Given the description of an element on the screen output the (x, y) to click on. 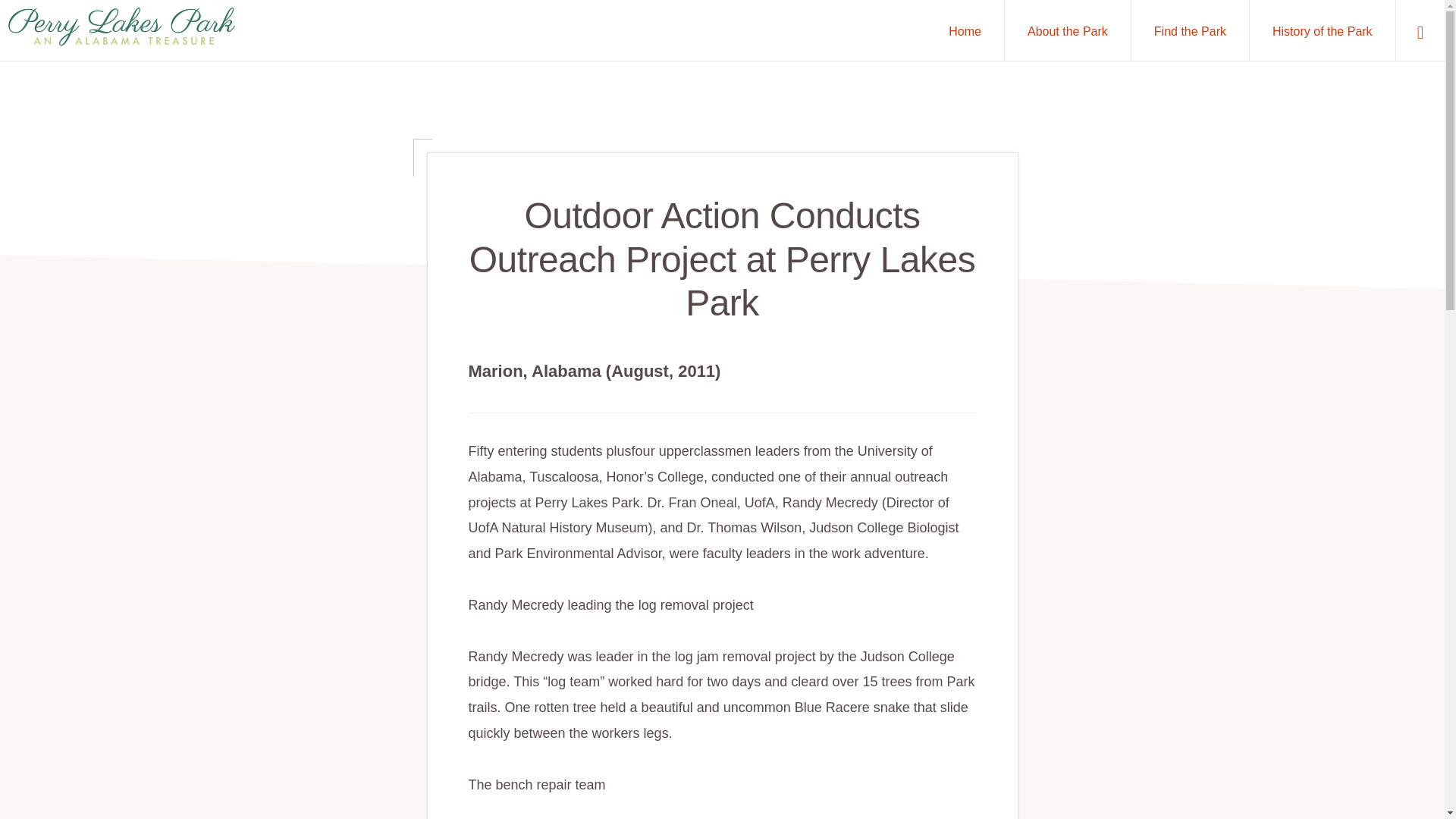
History of the Park (1321, 30)
OUTDOOR ALABAMA (441, 775)
HISTORY OF THE PARK (668, 775)
About the Park (1067, 30)
Find the Park (1190, 30)
Home (965, 30)
RURAL STUDIO (551, 775)
ALABAMA AUDUBON (318, 775)
